Given the description of an element on the screen output the (x, y) to click on. 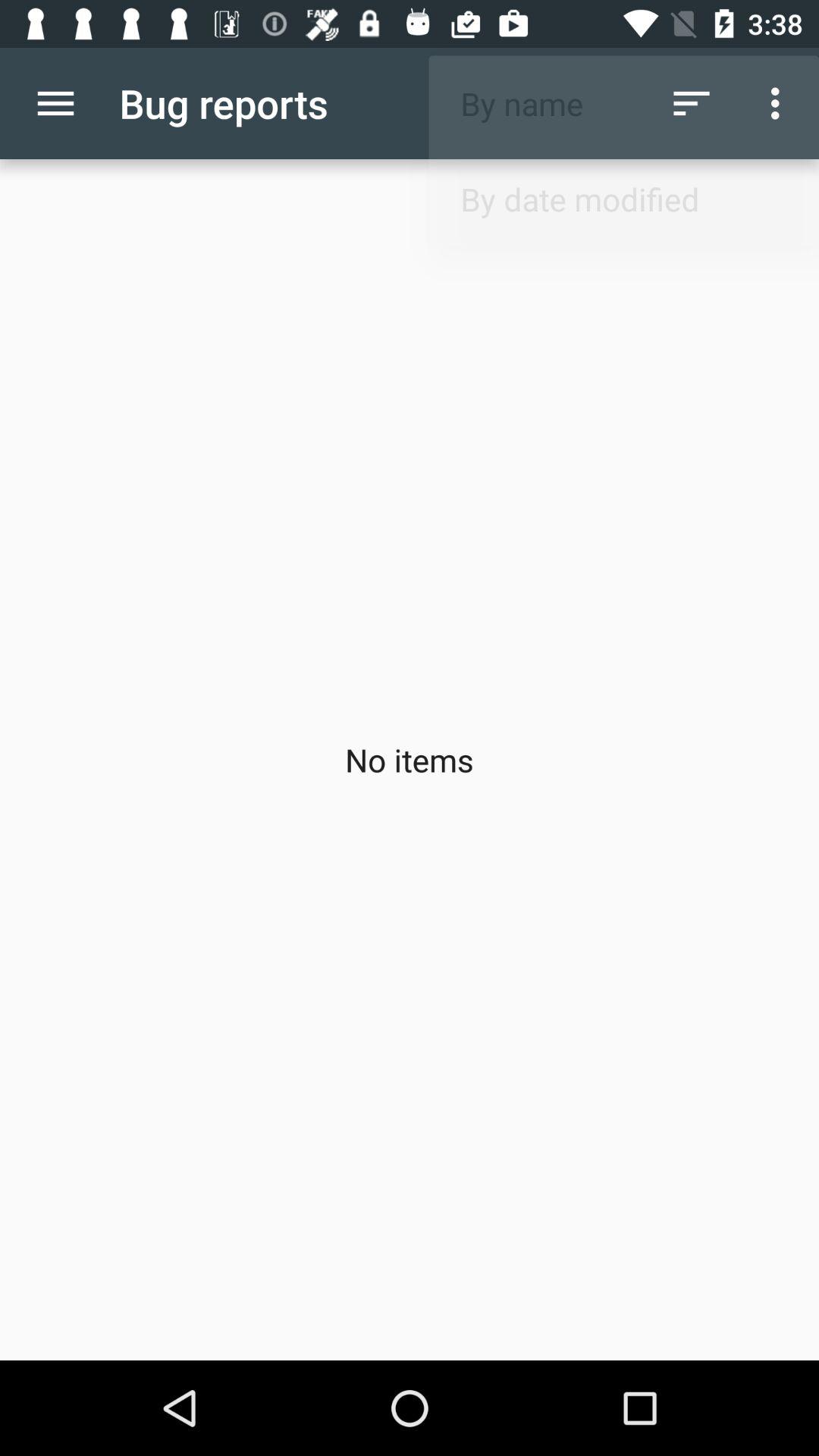
open the app to the left of bug reports item (55, 103)
